Given the description of an element on the screen output the (x, y) to click on. 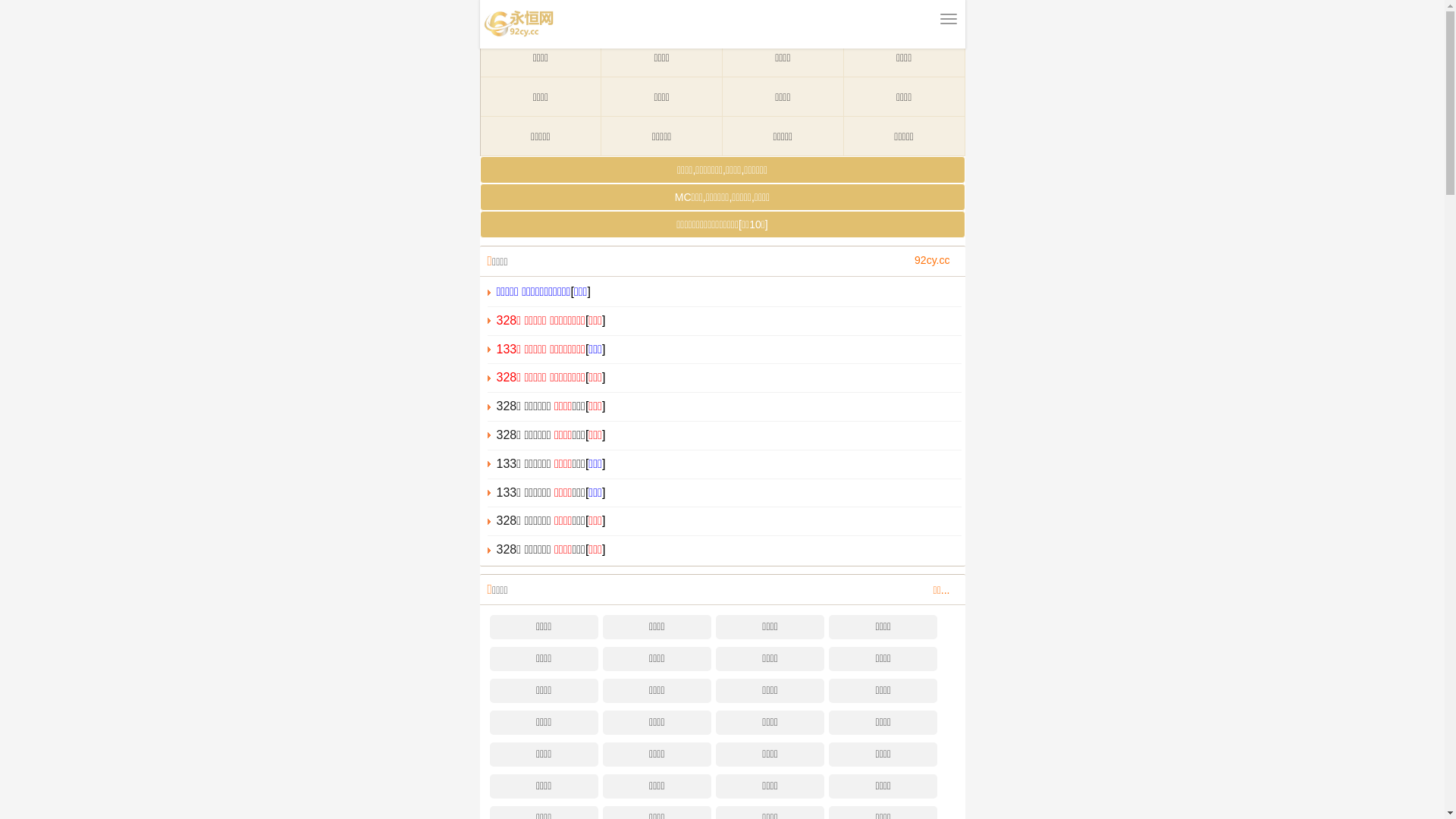
92cy.cc Element type: text (931, 260)
